Given the description of an element on the screen output the (x, y) to click on. 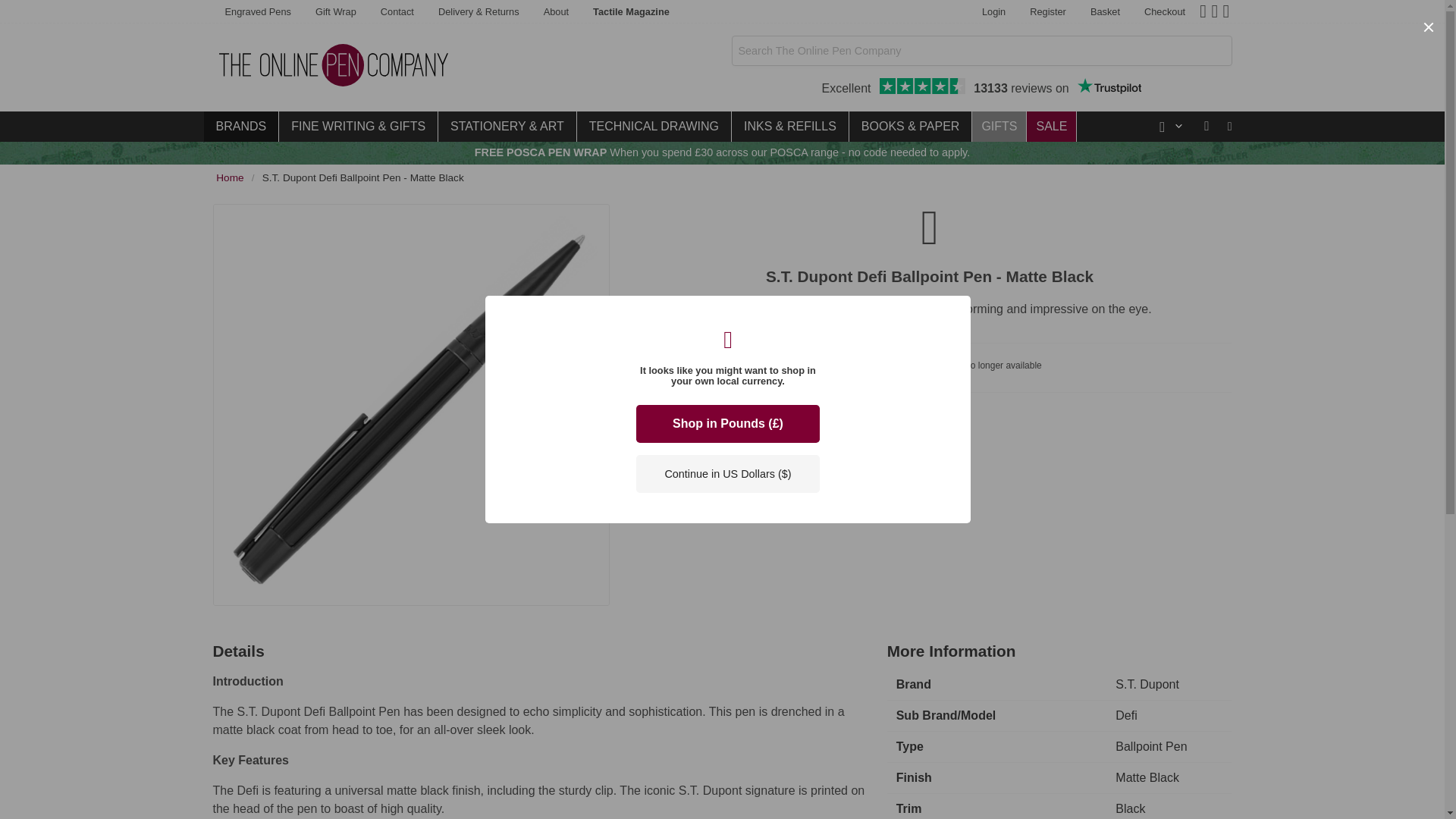
Tactile Magazine (630, 11)
Checkout (1164, 11)
Engraved Pens (980, 88)
Gift Wrap (257, 11)
Register (335, 11)
About (1047, 11)
Basket (555, 11)
BRANDS (1105, 11)
Login (240, 126)
Contact (993, 11)
Trustpilot (397, 11)
